Given the description of an element on the screen output the (x, y) to click on. 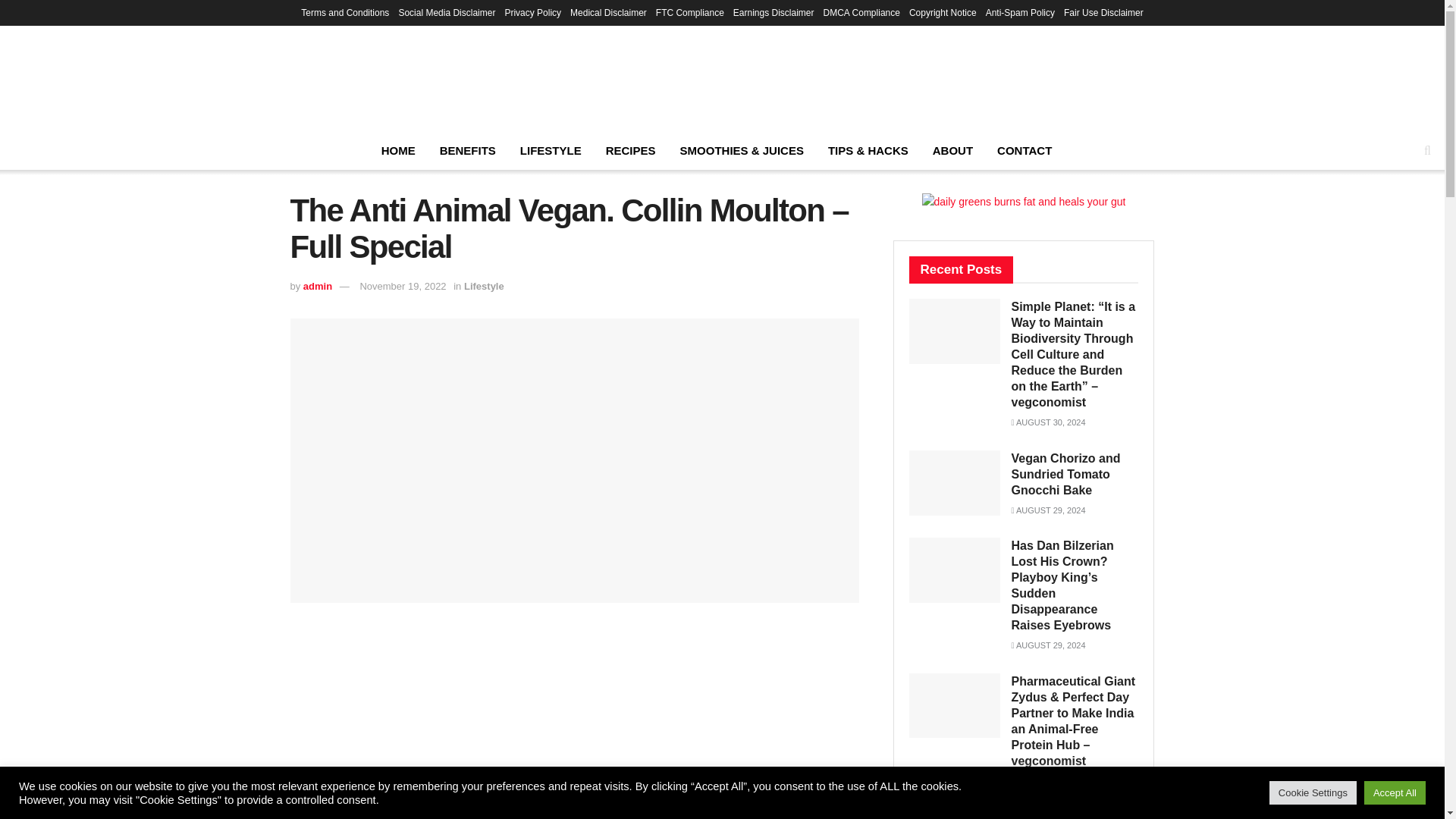
BENEFITS (468, 150)
Social Media Disclaimer (446, 12)
HOME (398, 150)
Anti-Spam Policy (1019, 12)
Copyright Notice (942, 12)
Terms and Conditions (344, 12)
Medical Disclaimer (608, 12)
LIFESTYLE (551, 150)
Fair Use Disclaimer (1103, 12)
DMCA Compliance (861, 12)
